Given the description of an element on the screen output the (x, y) to click on. 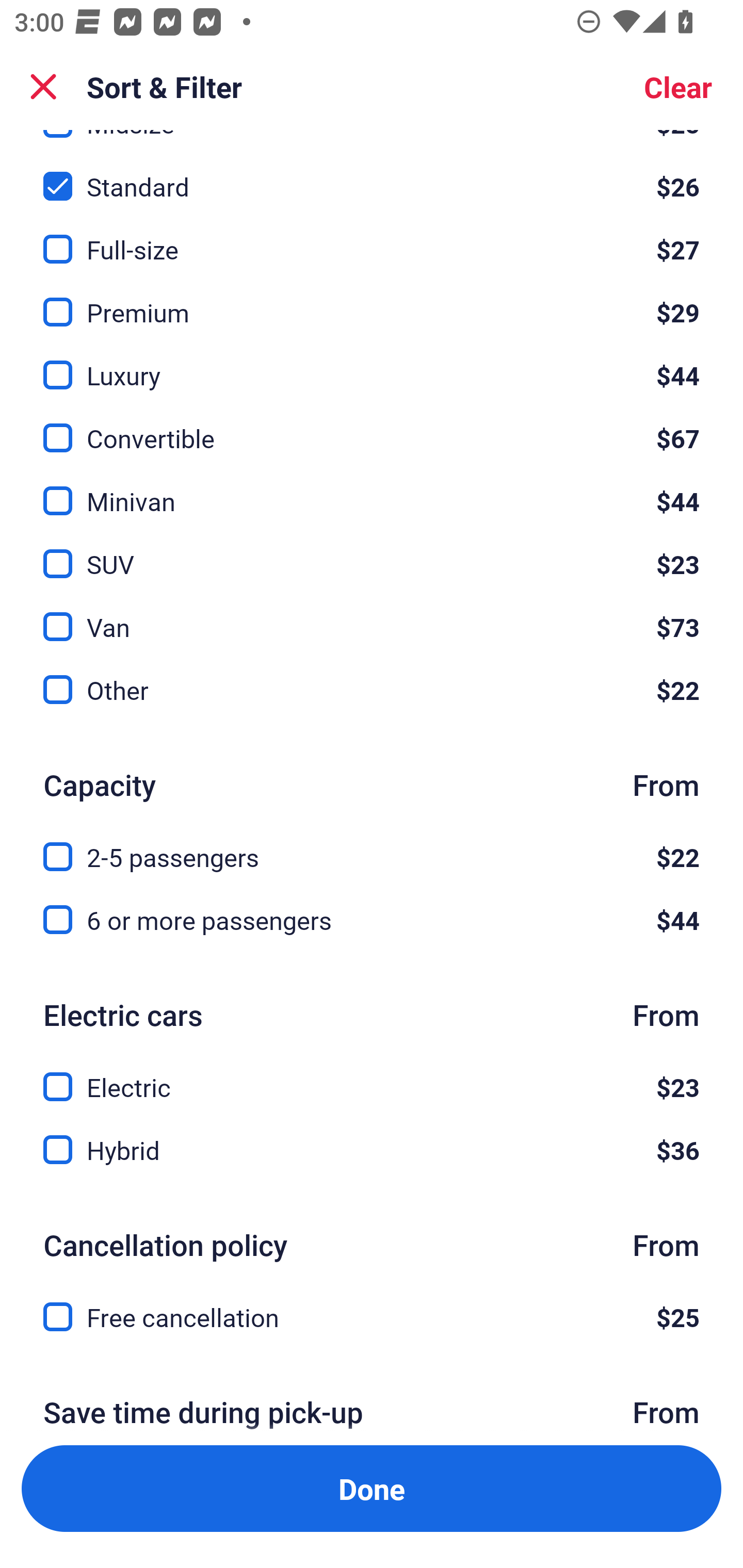
Close Sort and Filter (43, 86)
Clear (677, 86)
Standard, $26 Standard $26 (371, 174)
Full-size, $27 Full-size $27 (371, 237)
Premium, $29 Premium $29 (371, 300)
Luxury, $44 Luxury $44 (371, 363)
Convertible, $67 Convertible $67 (371, 426)
Minivan, $44 Minivan $44 (371, 488)
SUV, $23 SUV $23 (371, 551)
Van, $73 Van $73 (371, 614)
Other, $22 Other $22 (371, 689)
2-5 passengers, $22 2-5 passengers $22 (371, 844)
6 or more passengers, $44 6 or more passengers $44 (371, 919)
Electric, $23 Electric $23 (371, 1075)
Hybrid, $36 Hybrid $36 (371, 1150)
Free cancellation, $25 Free cancellation $25 (371, 1317)
Apply and close Sort and Filter Done (371, 1488)
